Given the description of an element on the screen output the (x, y) to click on. 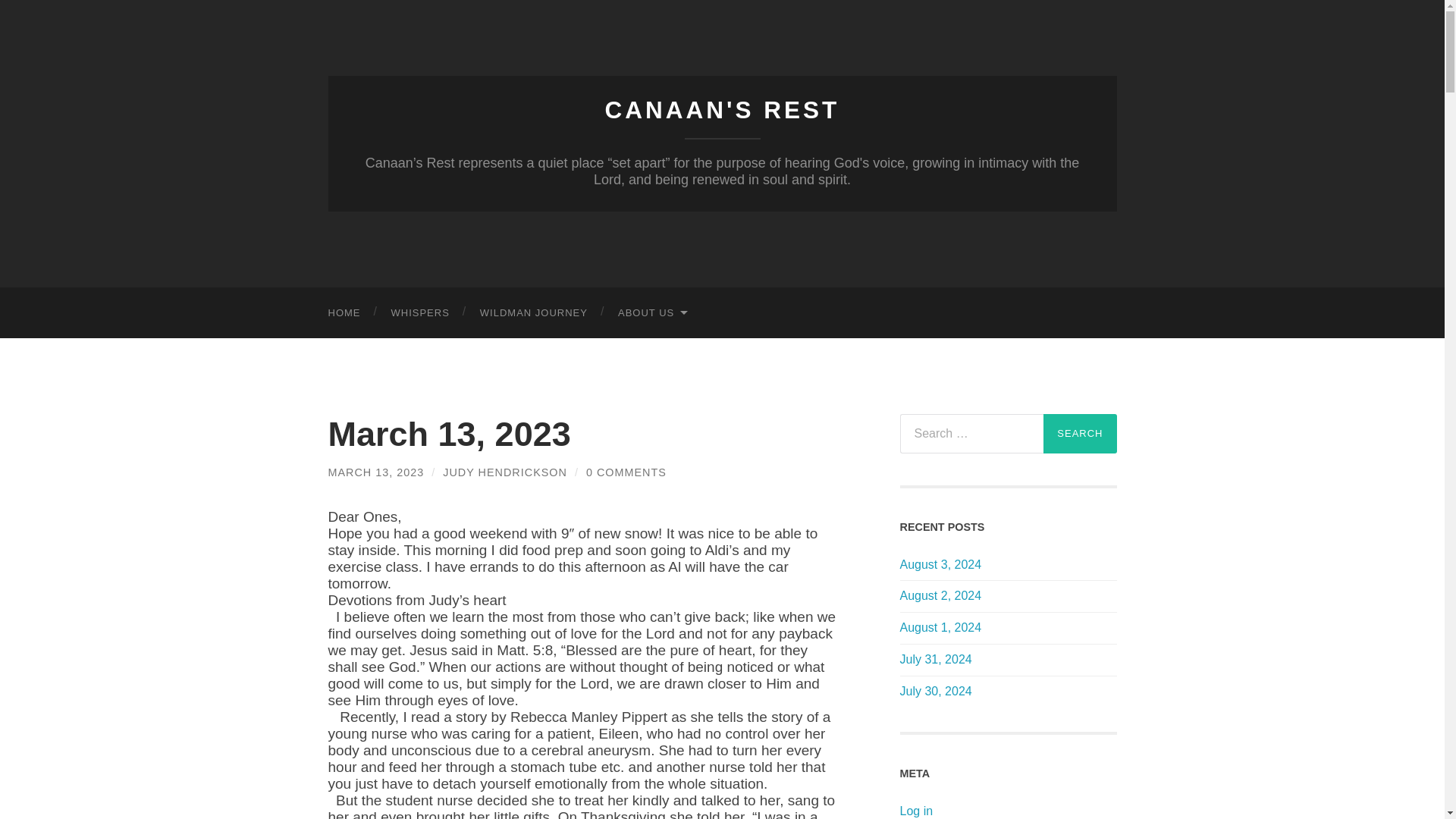
August 1, 2024 (1007, 627)
August 3, 2024 (1007, 565)
August 2, 2024 (1007, 596)
Log in (916, 810)
ABOUT US (651, 311)
JUDY HENDRICKSON (504, 471)
HOME (344, 311)
Search (1079, 433)
0 COMMENTS (626, 471)
WHISPERS (419, 311)
Search (1079, 433)
WILDMAN JOURNEY (533, 311)
July 30, 2024 (1007, 691)
CANAAN'S REST (722, 109)
Search (1079, 433)
